Given the description of an element on the screen output the (x, y) to click on. 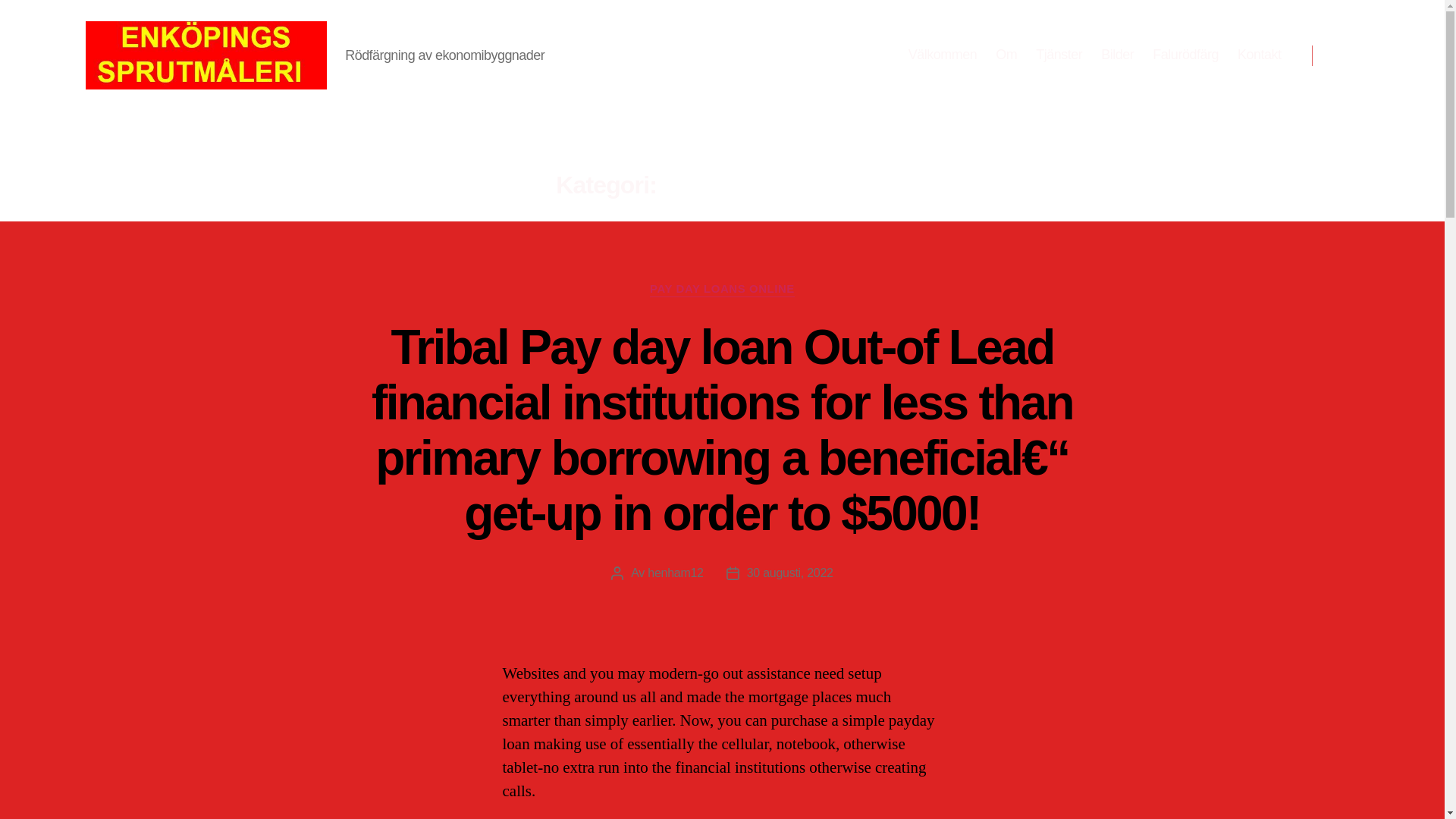
Kontakt (1259, 54)
Om (1005, 54)
Bilder (1117, 54)
PAY DAY LOANS ONLINE (721, 289)
30 augusti, 2022 (789, 572)
henham12 (675, 572)
